Given the description of an element on the screen output the (x, y) to click on. 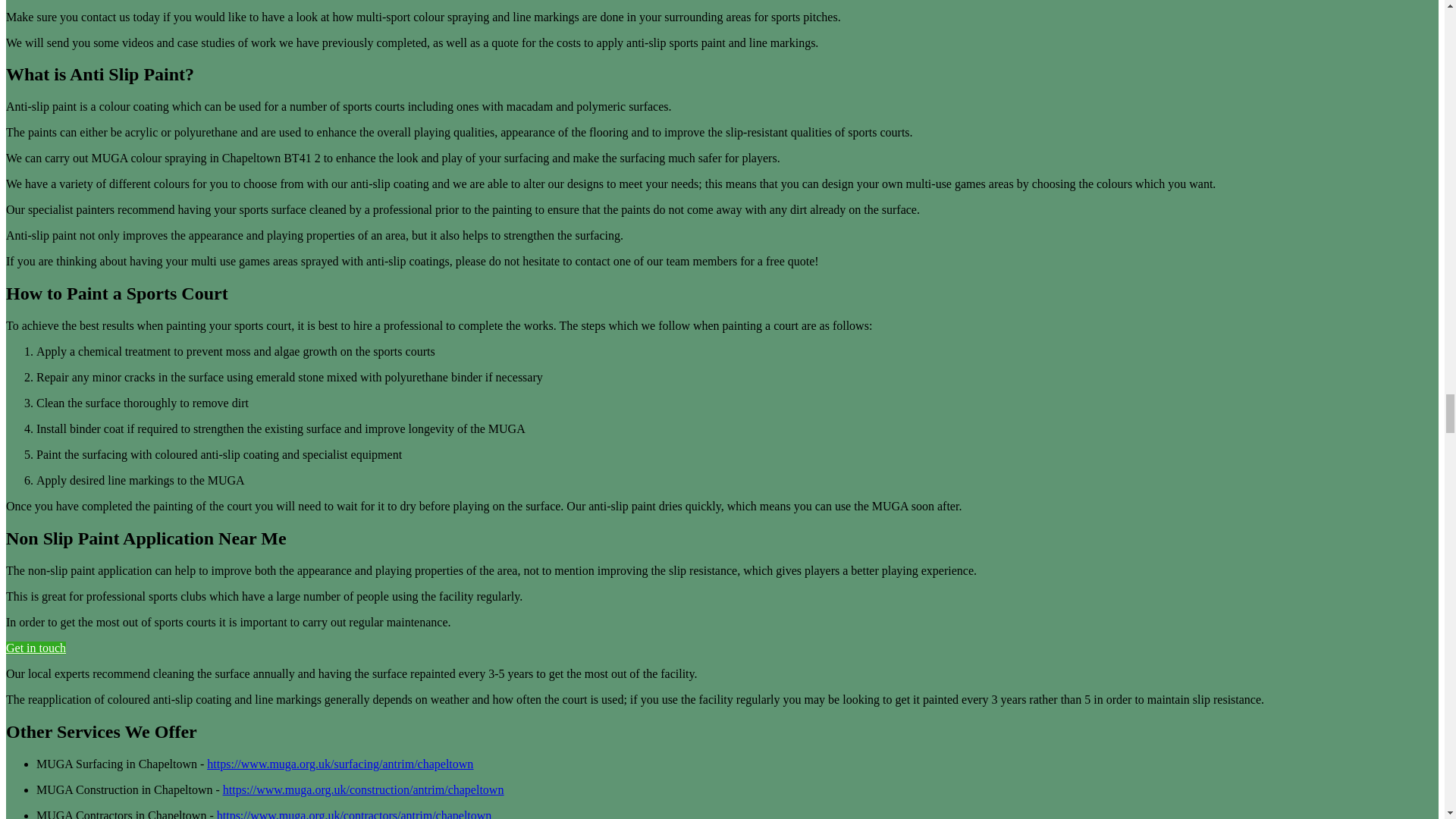
Get in touch (35, 647)
